Given the description of an element on the screen output the (x, y) to click on. 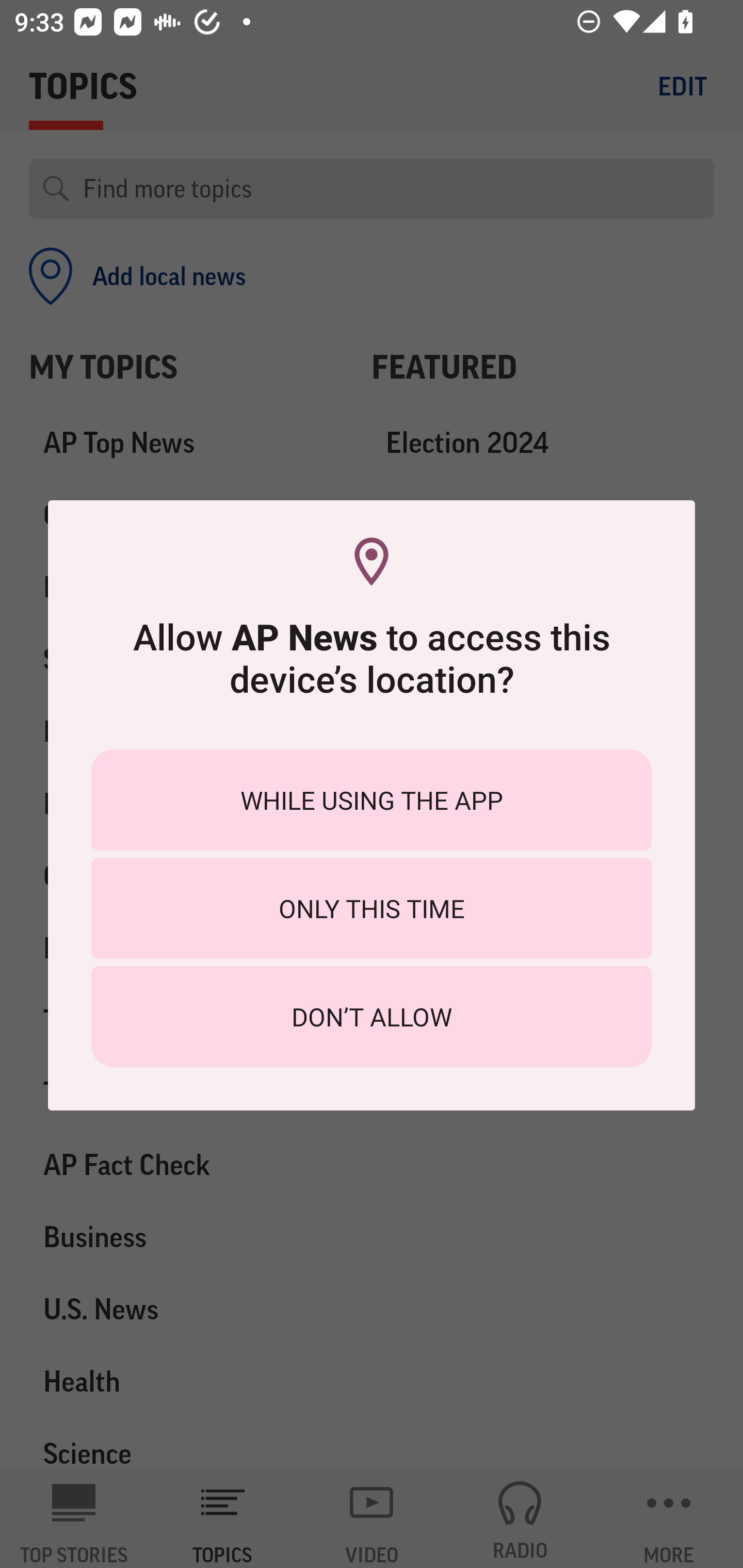
WHILE USING THE APP (371, 799)
ONLY THIS TIME (371, 908)
DON’T ALLOW (371, 1016)
